Given the description of an element on the screen output the (x, y) to click on. 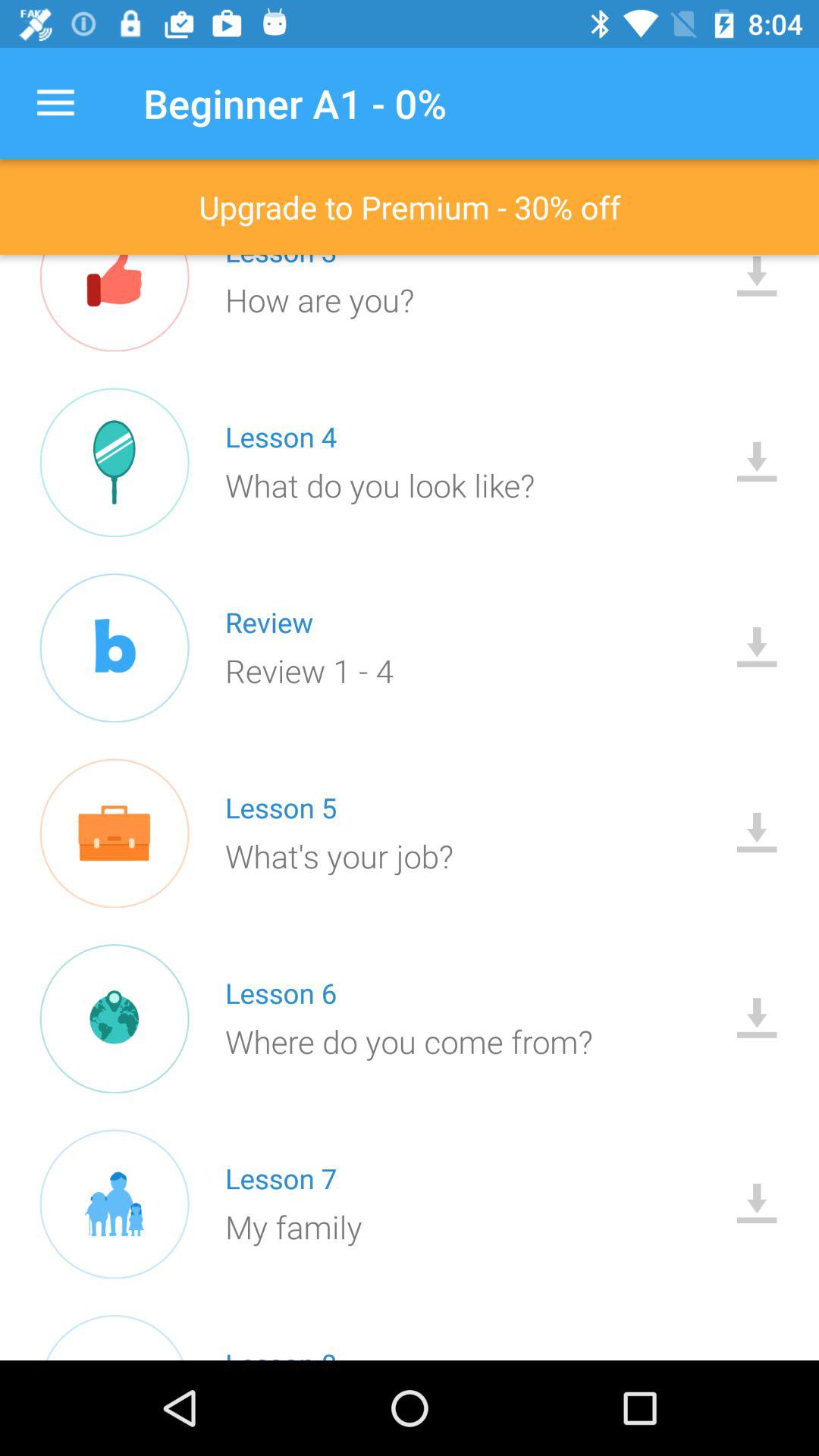
turn on the item above the upgrade to premium icon (55, 103)
